Given the description of an element on the screen output the (x, y) to click on. 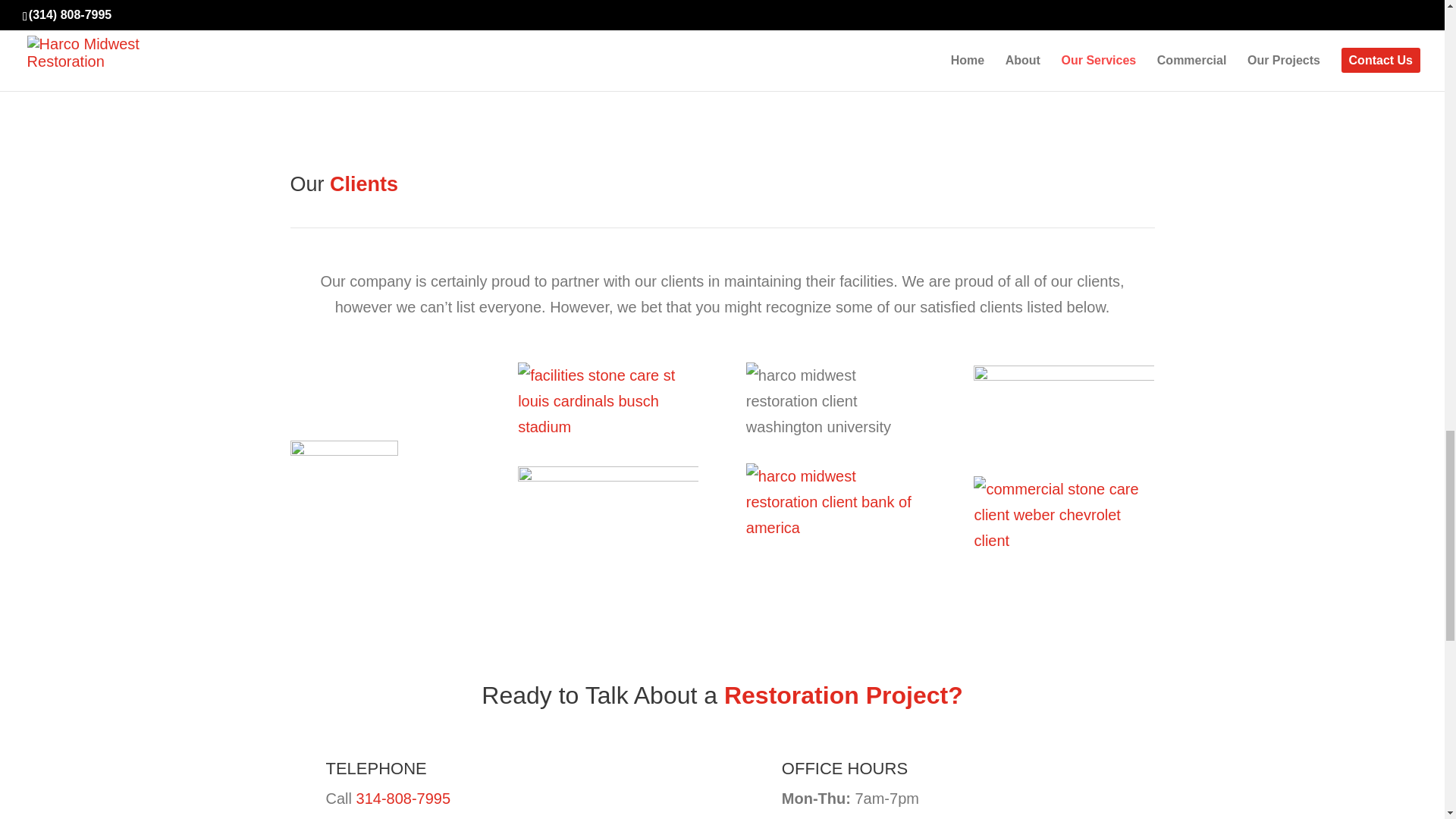
Phone (403, 798)
Countertops (839, 28)
weber-chevrolet-logo (1064, 514)
Floors (372, 28)
314-808-7995 (403, 798)
Busch-Stadium (608, 400)
Restrooms (605, 28)
Epoxy Coatings (1072, 28)
wash-u-logo (835, 400)
Bank-of-america-logo (835, 501)
